Given the description of an element on the screen output the (x, y) to click on. 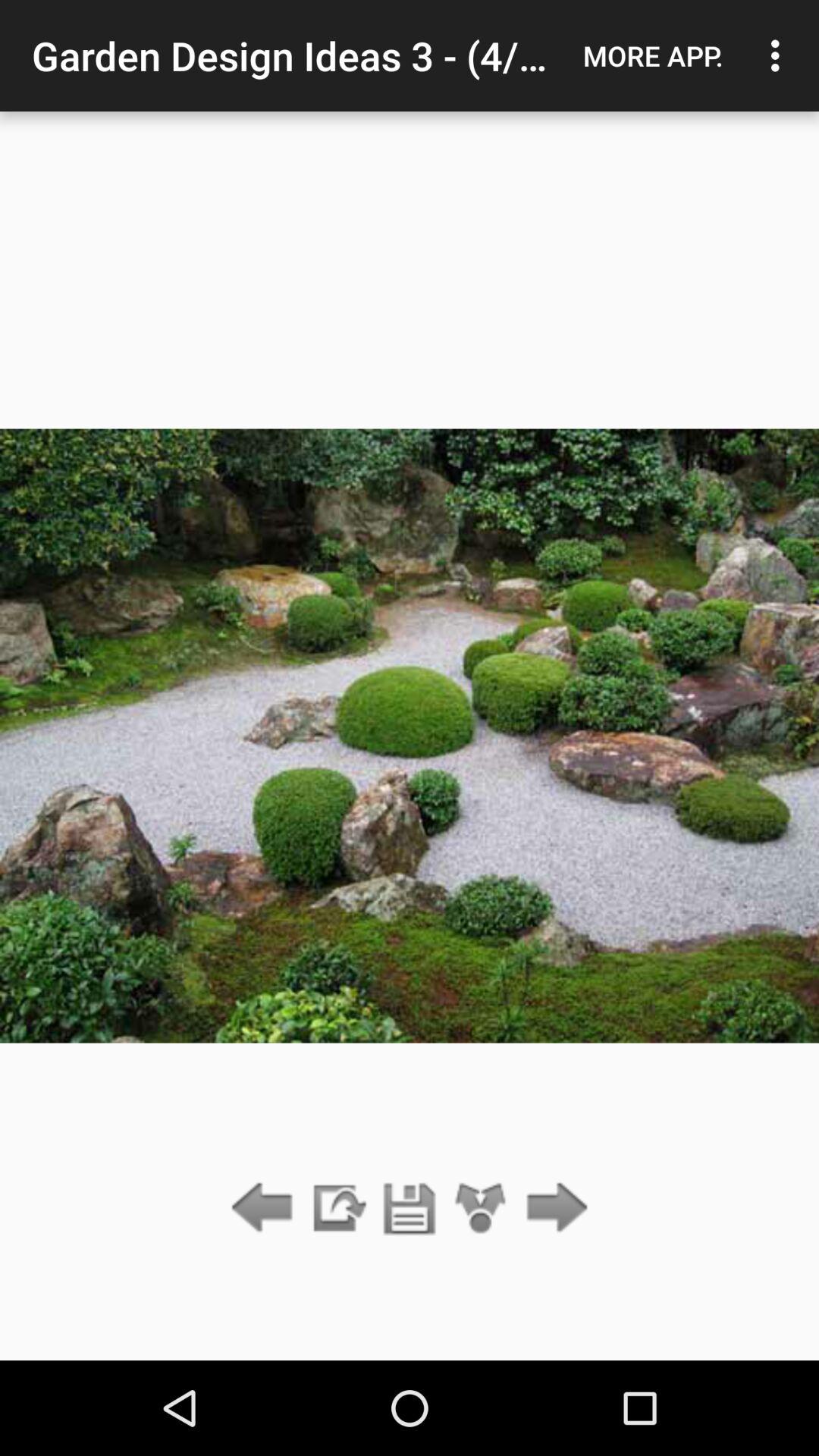
press the item next to the more app. item (779, 55)
